Given the description of an element on the screen output the (x, y) to click on. 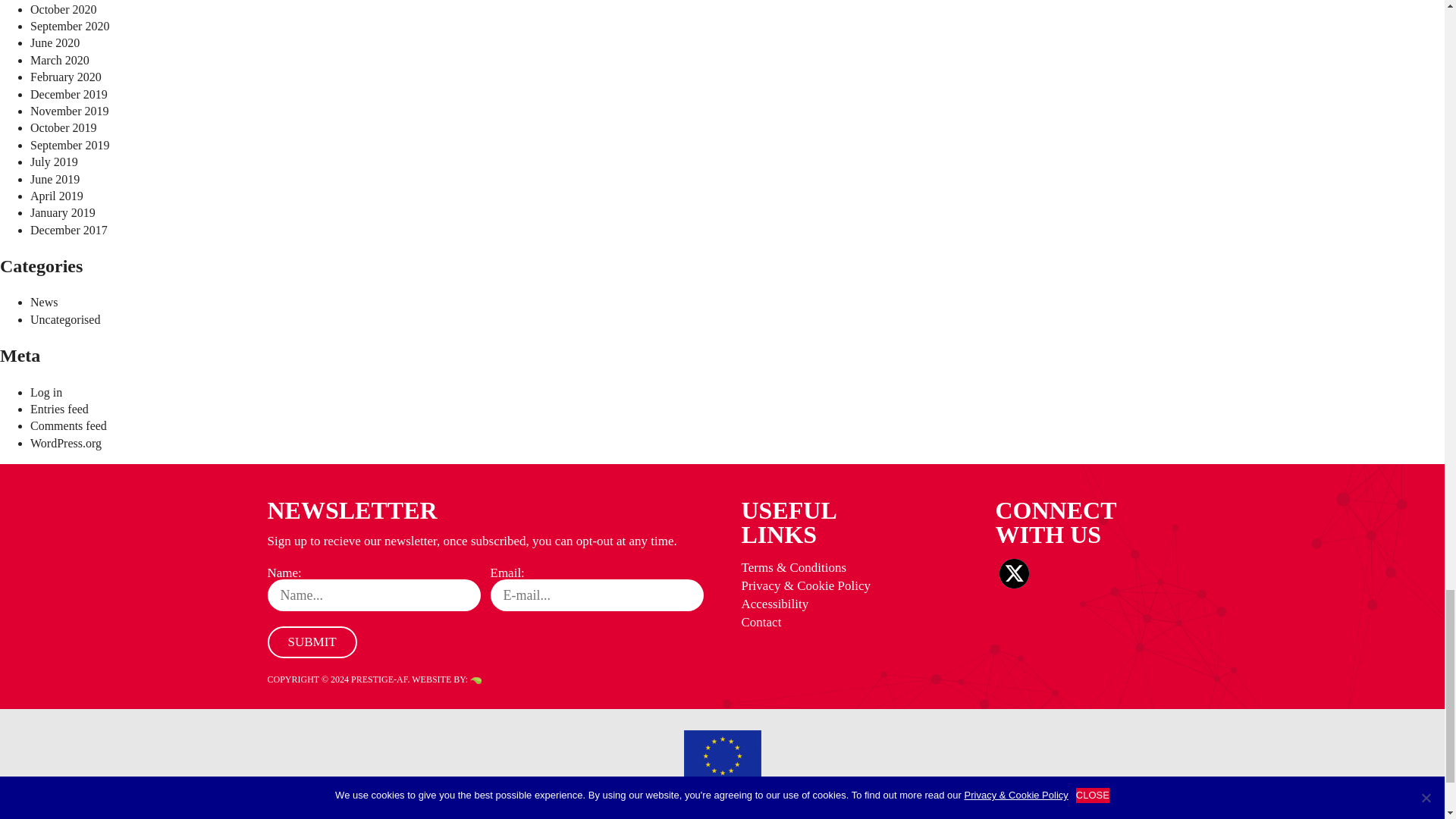
September 2020 (69, 25)
December 2019 (68, 93)
March 2020 (59, 60)
February 2020 (65, 76)
greensplash (475, 680)
November 2019 (69, 110)
Submit (311, 642)
October 2020 (63, 9)
twitter (1013, 573)
eu (722, 756)
June 2020 (55, 42)
